Given the description of an element on the screen output the (x, y) to click on. 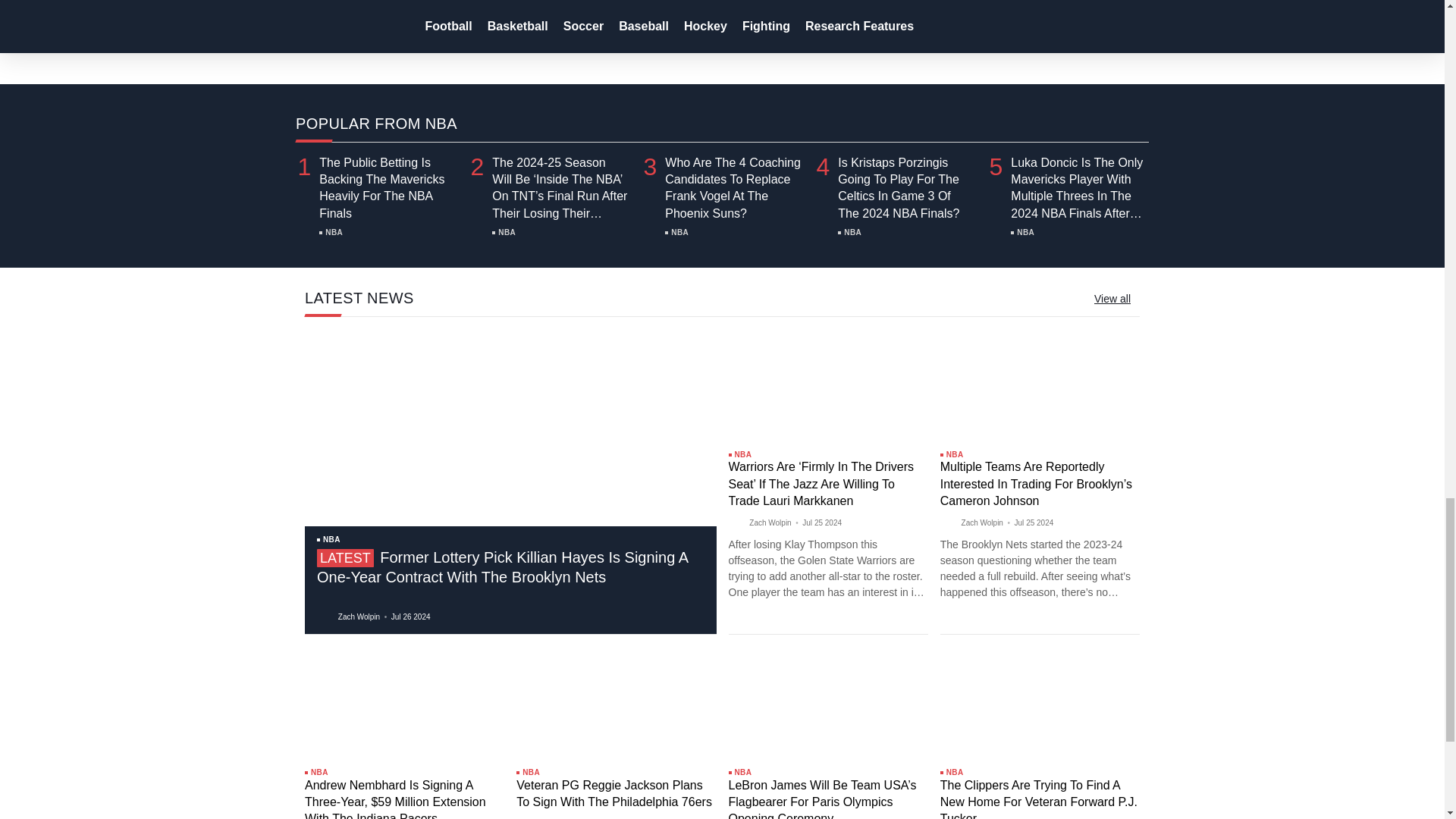
View All Posts By Anthony R. Cardenas (544, 11)
